Given the description of an element on the screen output the (x, y) to click on. 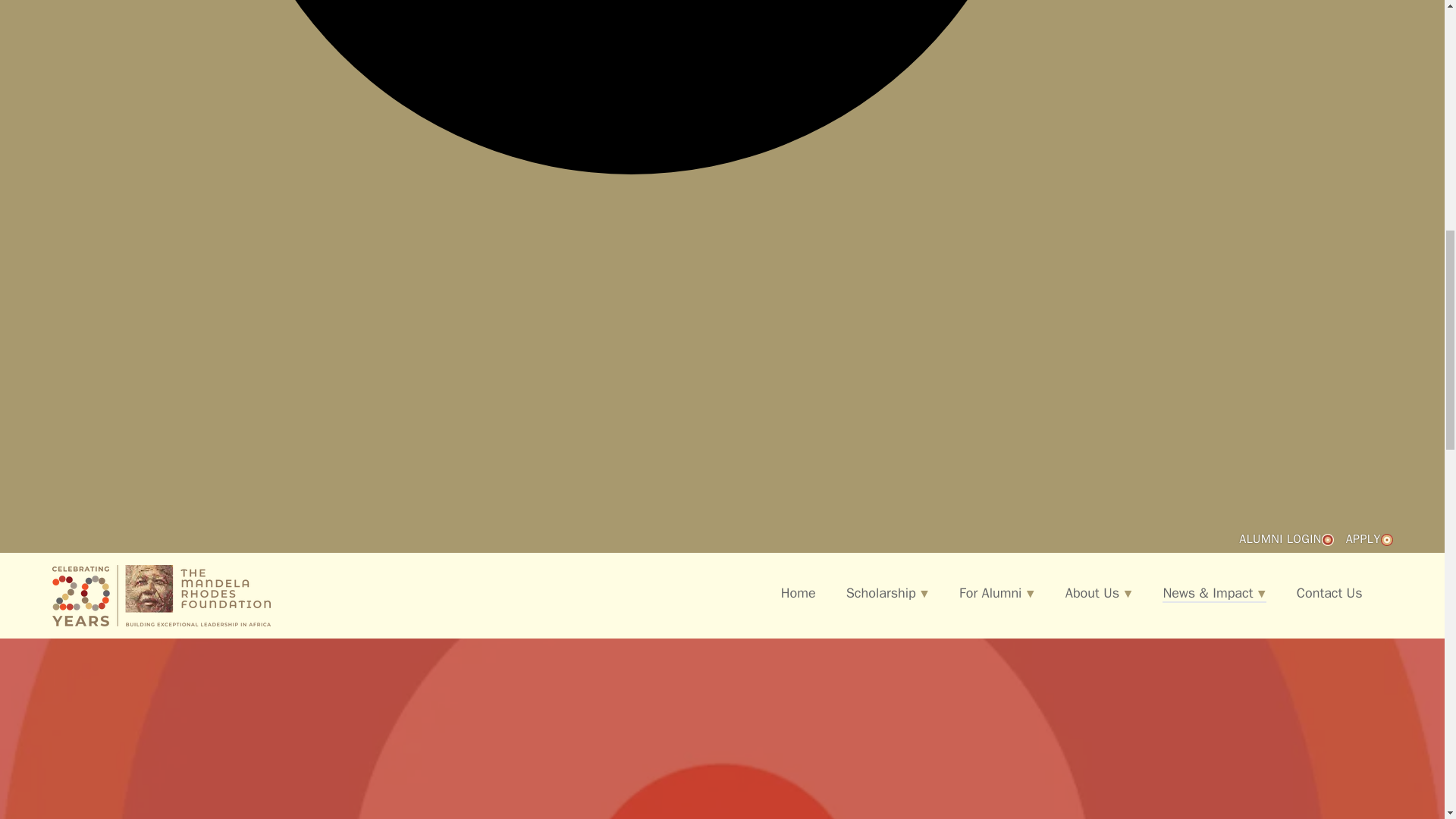
APPLY (1369, 539)
Home (797, 591)
Contact Us (1329, 591)
ALUMNI LOGIN (1286, 539)
